Given the description of an element on the screen output the (x, y) to click on. 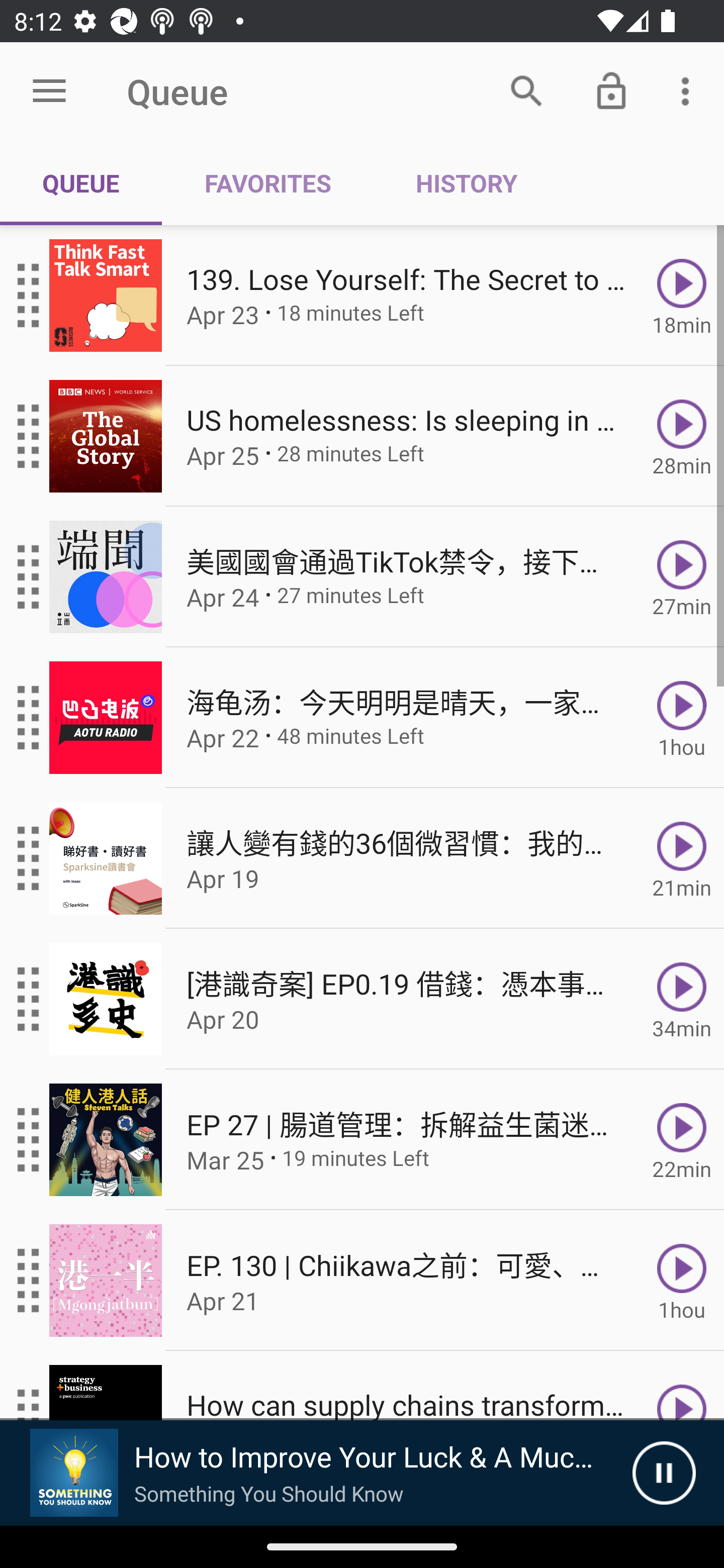
Open menu (49, 91)
Search (526, 90)
Lock Queue (611, 90)
More options (688, 90)
QUEUE (81, 183)
FAVORITES (267, 183)
HISTORY (465, 183)
Play 18min (681, 295)
Play 28min (681, 435)
Play 27min (681, 576)
Play 1hou (681, 717)
Play 21min (681, 858)
Play 34min (681, 998)
Play 22min (681, 1139)
Play 1hou (681, 1280)
Play (681, 1385)
Pause (663, 1472)
